Given the description of an element on the screen output the (x, y) to click on. 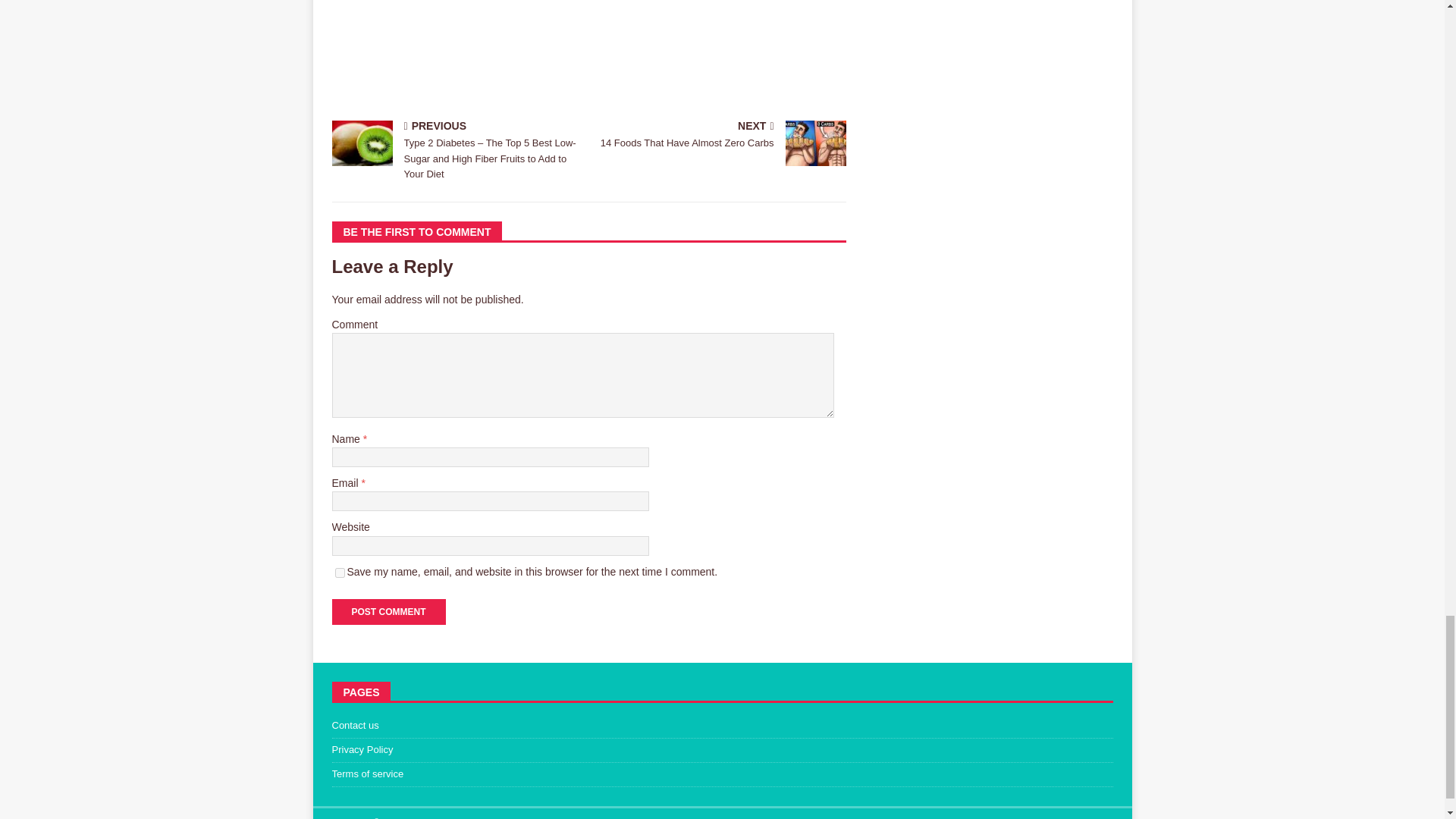
Privacy Policy (722, 750)
Post Comment (388, 611)
Contact us (722, 728)
Terms of service (722, 774)
Advertisement (588, 57)
Post Comment (388, 611)
yes (339, 573)
